Given the description of an element on the screen output the (x, y) to click on. 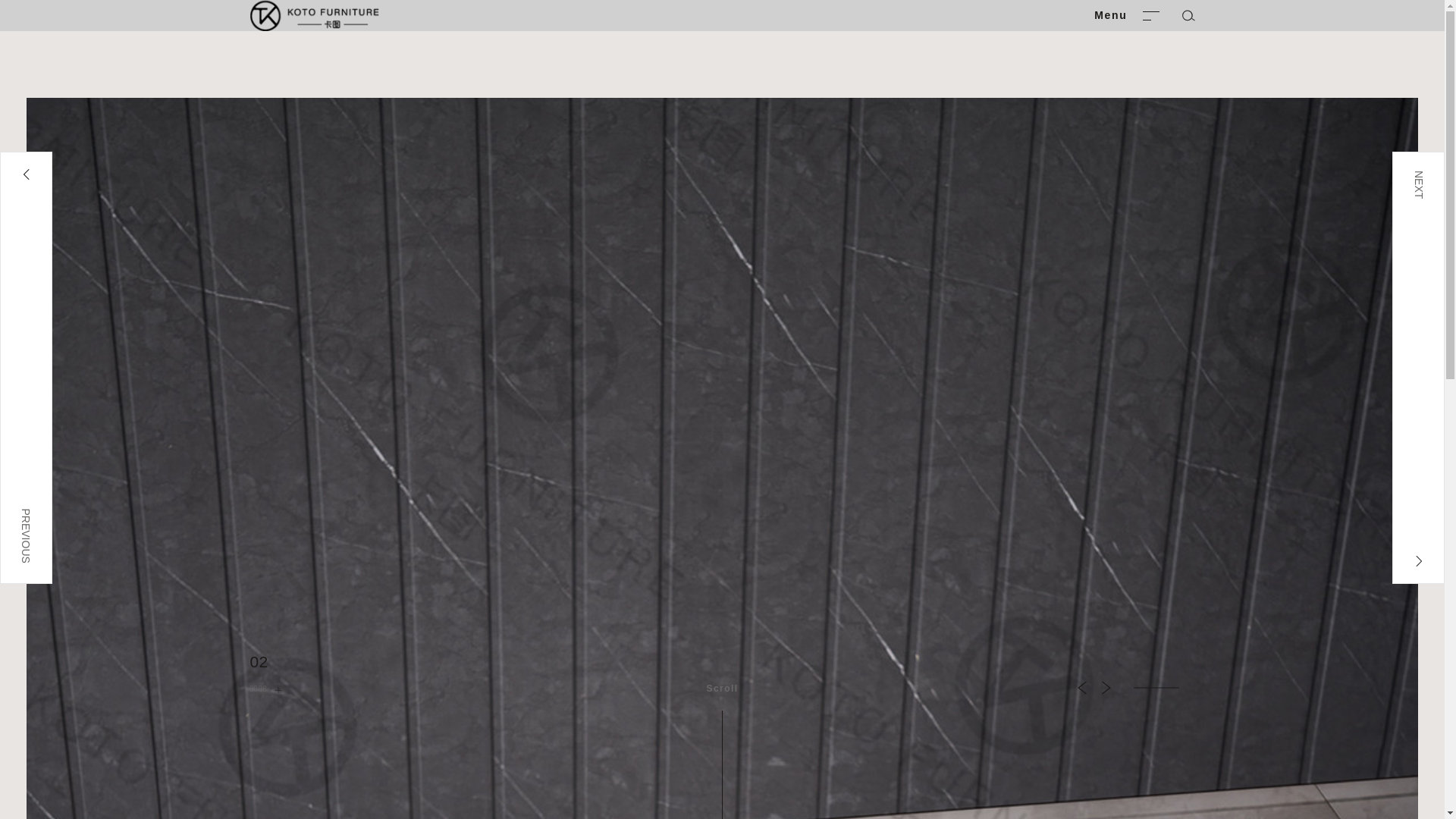
NEXT Element type: text (1418, 367)
PREVIOUS Element type: text (25, 367)
